Given the description of an element on the screen output the (x, y) to click on. 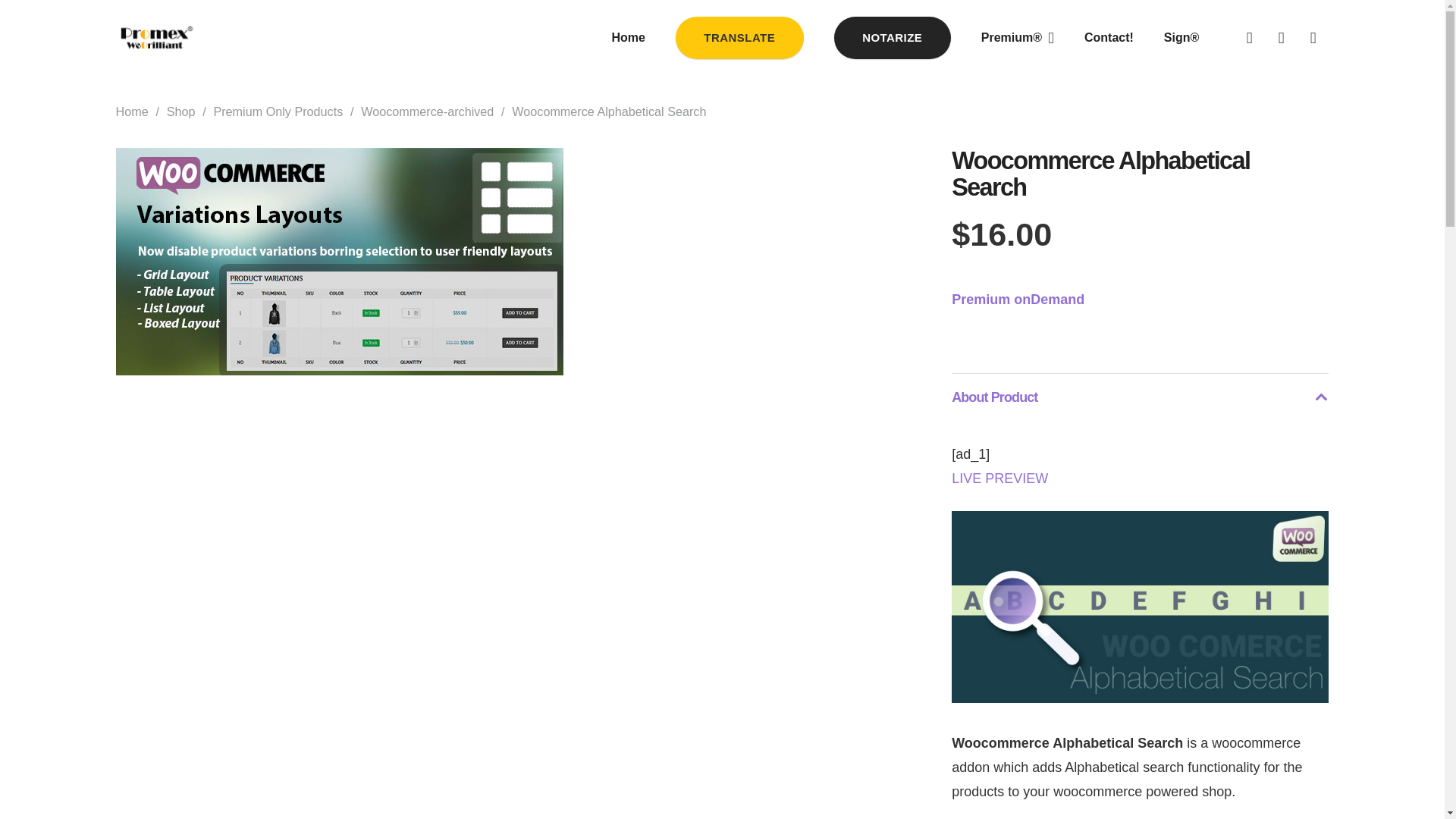
Apple Store (1281, 38)
Home (131, 110)
Contact! (1108, 37)
Premium Only Products (277, 110)
TRANSLATE (739, 37)
Google Play (1312, 38)
Home (627, 37)
LIVE PREVIEW (1000, 478)
NOTARIZE (892, 37)
Facebook (1249, 38)
WooCommerce Product Variations Layouts (338, 261)
Shop (181, 110)
Woocommerce-archived (427, 110)
Premium onDemand (1018, 299)
About Product (1139, 397)
